Given the description of an element on the screen output the (x, y) to click on. 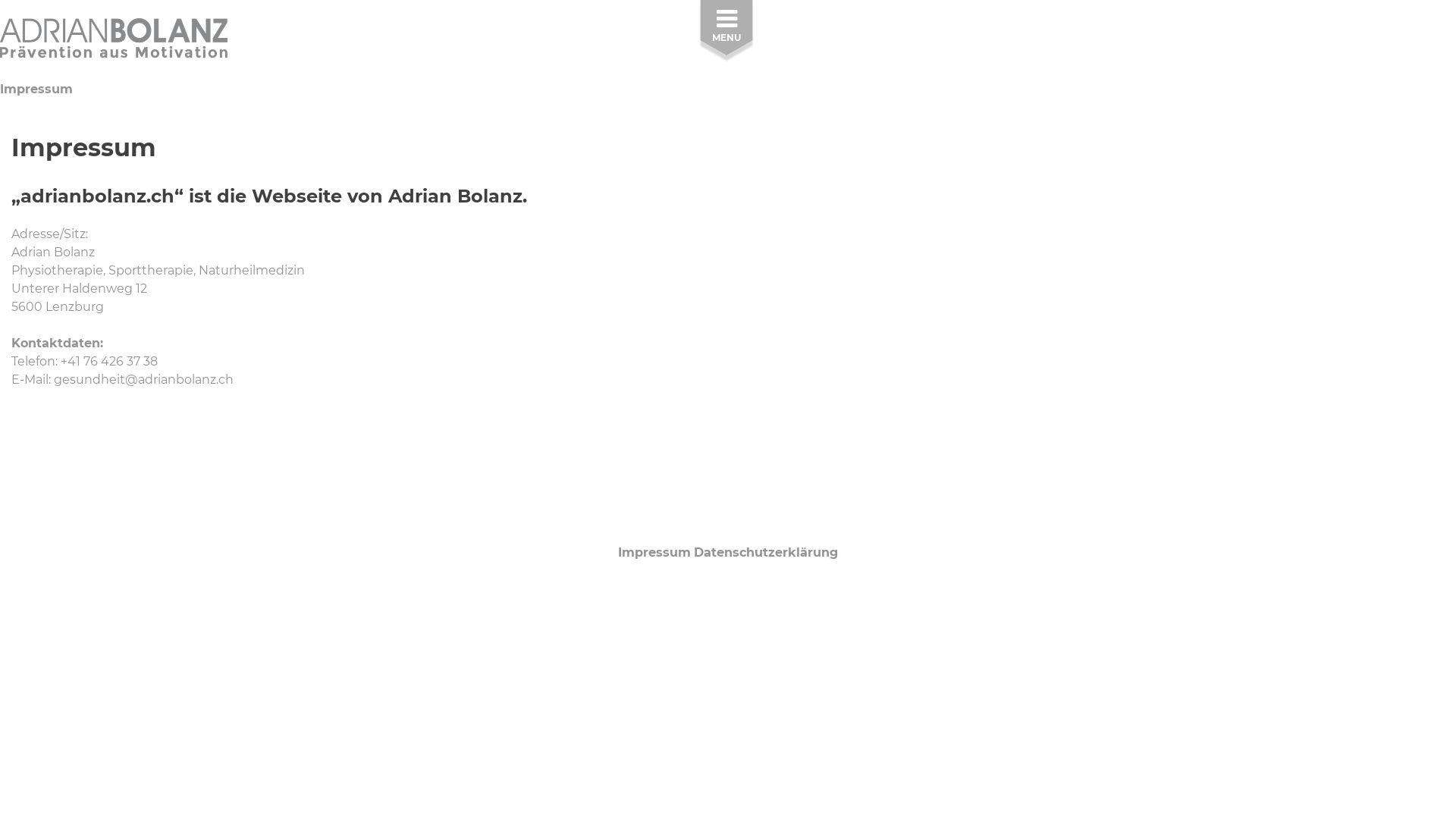
MENU Element type: text (726, 33)
Impressum Element type: text (654, 552)
Adrian Bolanz Element type: hover (113, 47)
